Given the description of an element on the screen output the (x, y) to click on. 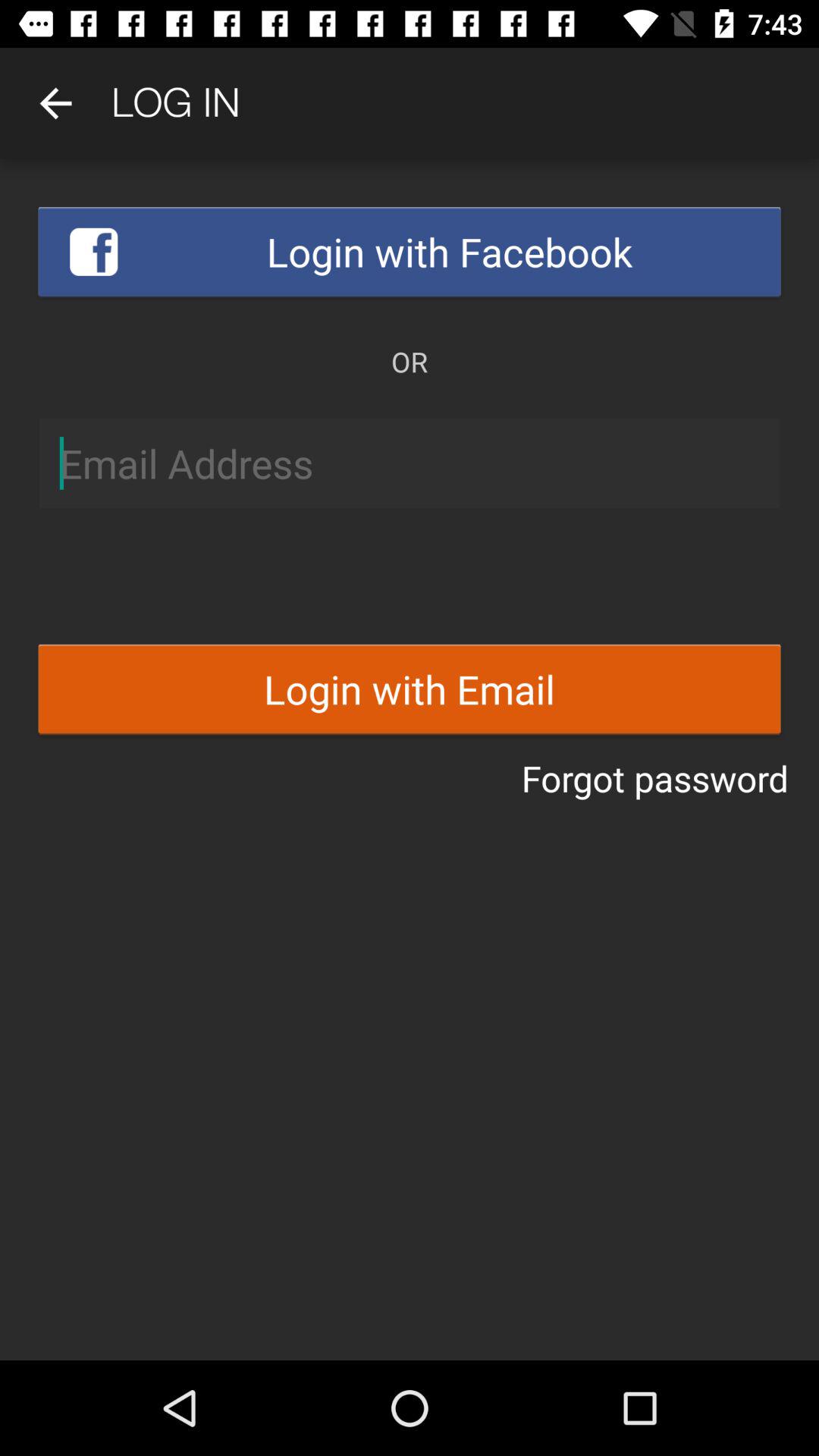
scroll to the forgot password (654, 778)
